Given the description of an element on the screen output the (x, y) to click on. 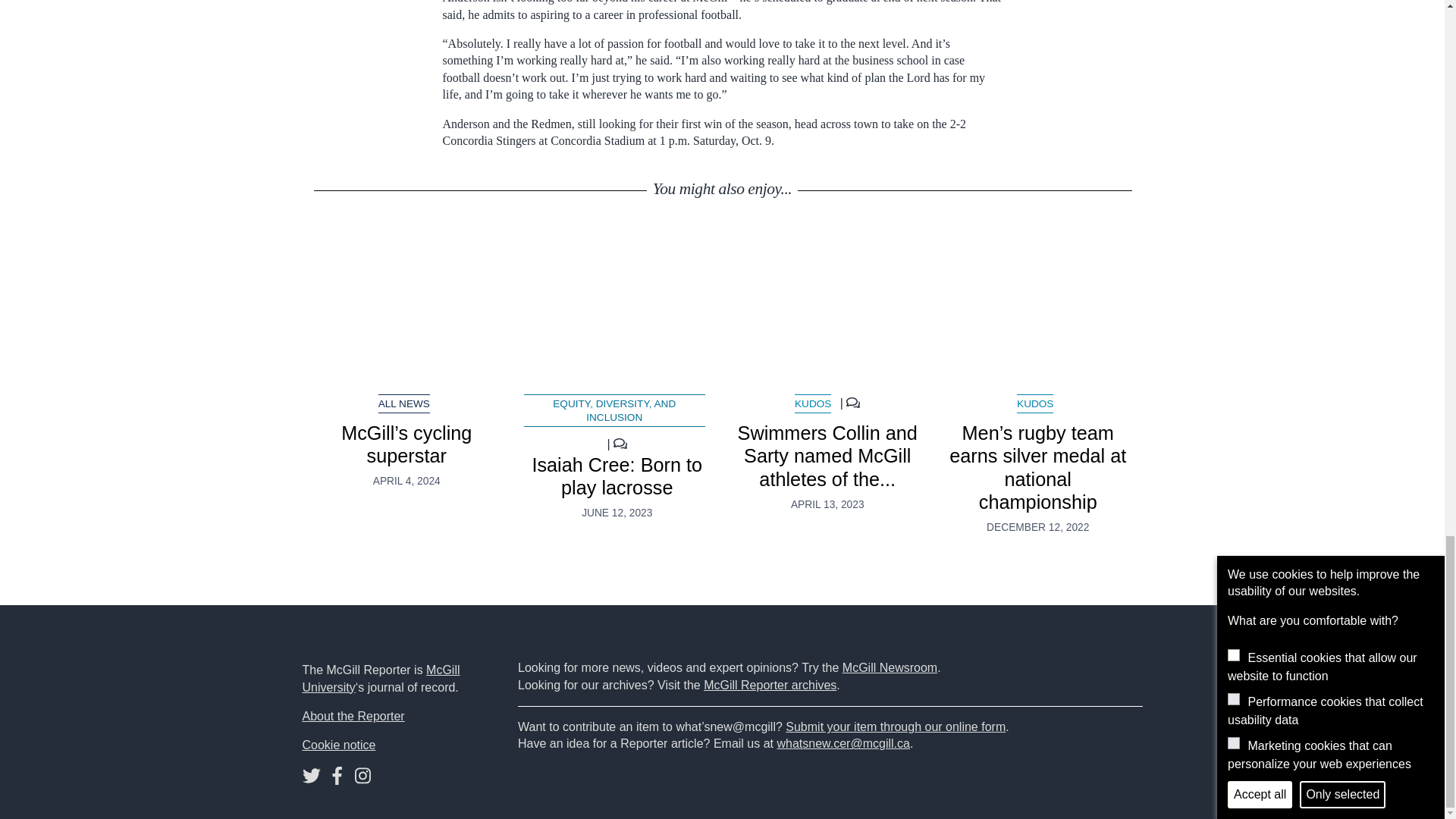
KUDOS (812, 403)
Isaiah Cree: Born to play lacrosse (616, 475)
McGill University (380, 677)
Swimmers Collin and Sarty named McGill athletes of the year (826, 308)
ALL NEWS (403, 403)
Follow us on X (310, 778)
Cookie notice (338, 744)
EQUITY, DIVERSITY, AND INCLUSION (614, 409)
Follow us on Instagram (363, 778)
KUDOS (1034, 403)
